Given the description of an element on the screen output the (x, y) to click on. 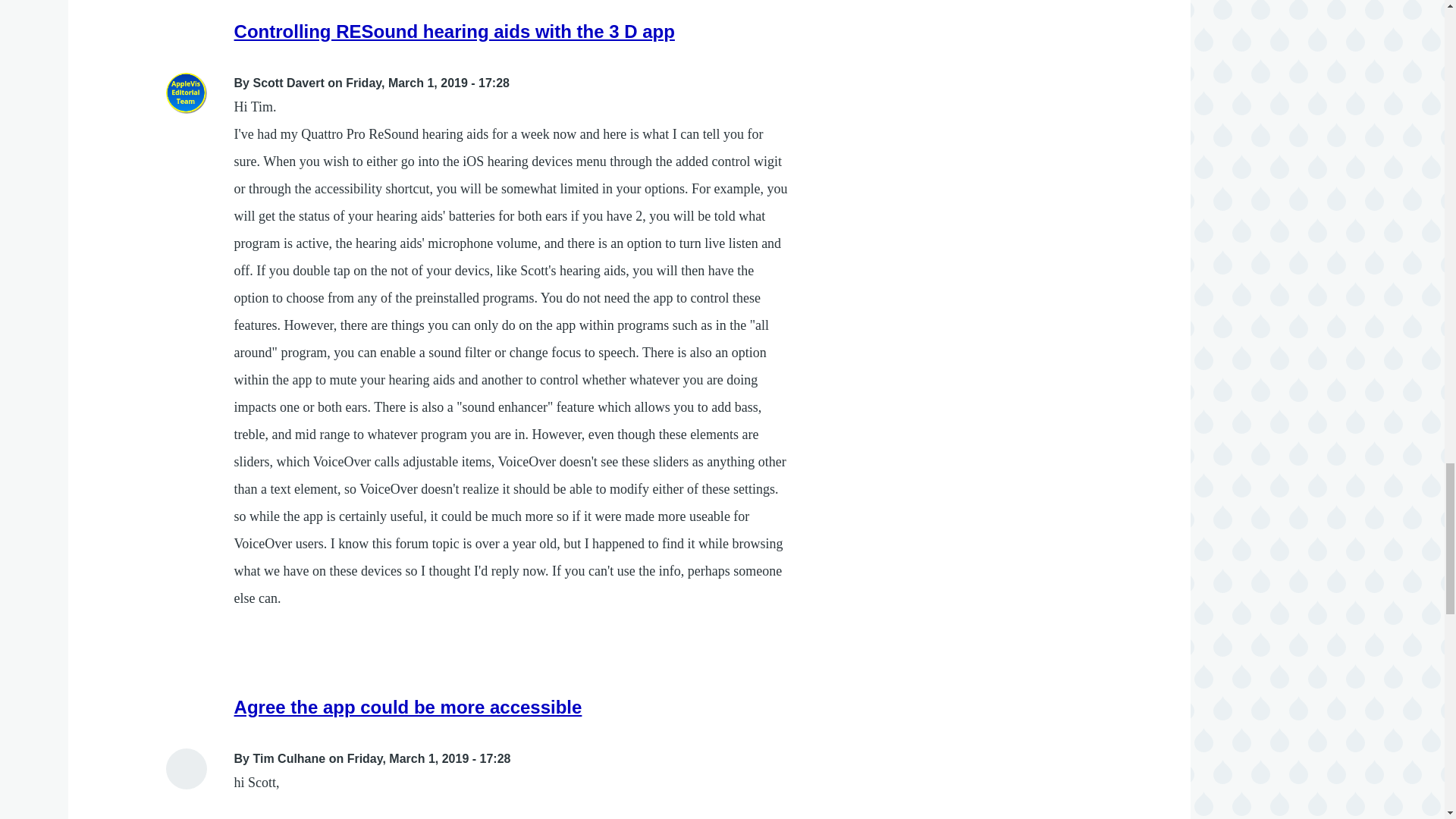
Agree the app could be more accessible (408, 706)
Controlling RESound hearing aids with the 3 D app (454, 31)
